Given the description of an element on the screen output the (x, y) to click on. 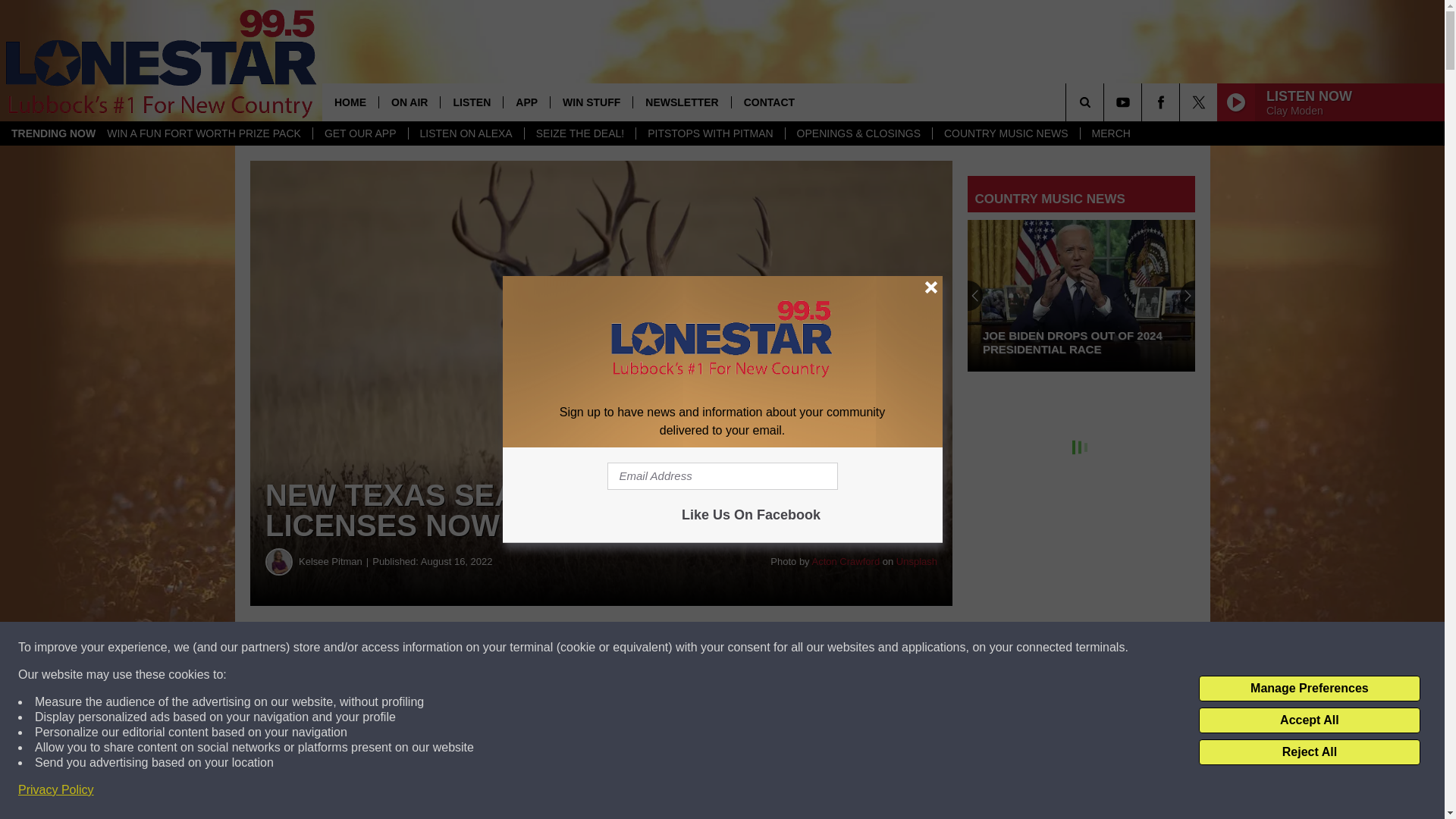
MERCH (1110, 133)
LISTEN ON ALEXA (465, 133)
Manage Preferences (1309, 688)
APP (526, 102)
SEARCH (1106, 102)
Share on Twitter (741, 647)
LISTEN (470, 102)
ON AIR (408, 102)
PITSTOPS WITH PITMAN (709, 133)
Accept All (1309, 720)
Privacy Policy (55, 789)
SEIZE THE DEAL! (579, 133)
SEARCH (1106, 102)
WIN A FUN FORT WORTH PRIZE PACK (204, 133)
Reject All (1309, 751)
